Given the description of an element on the screen output the (x, y) to click on. 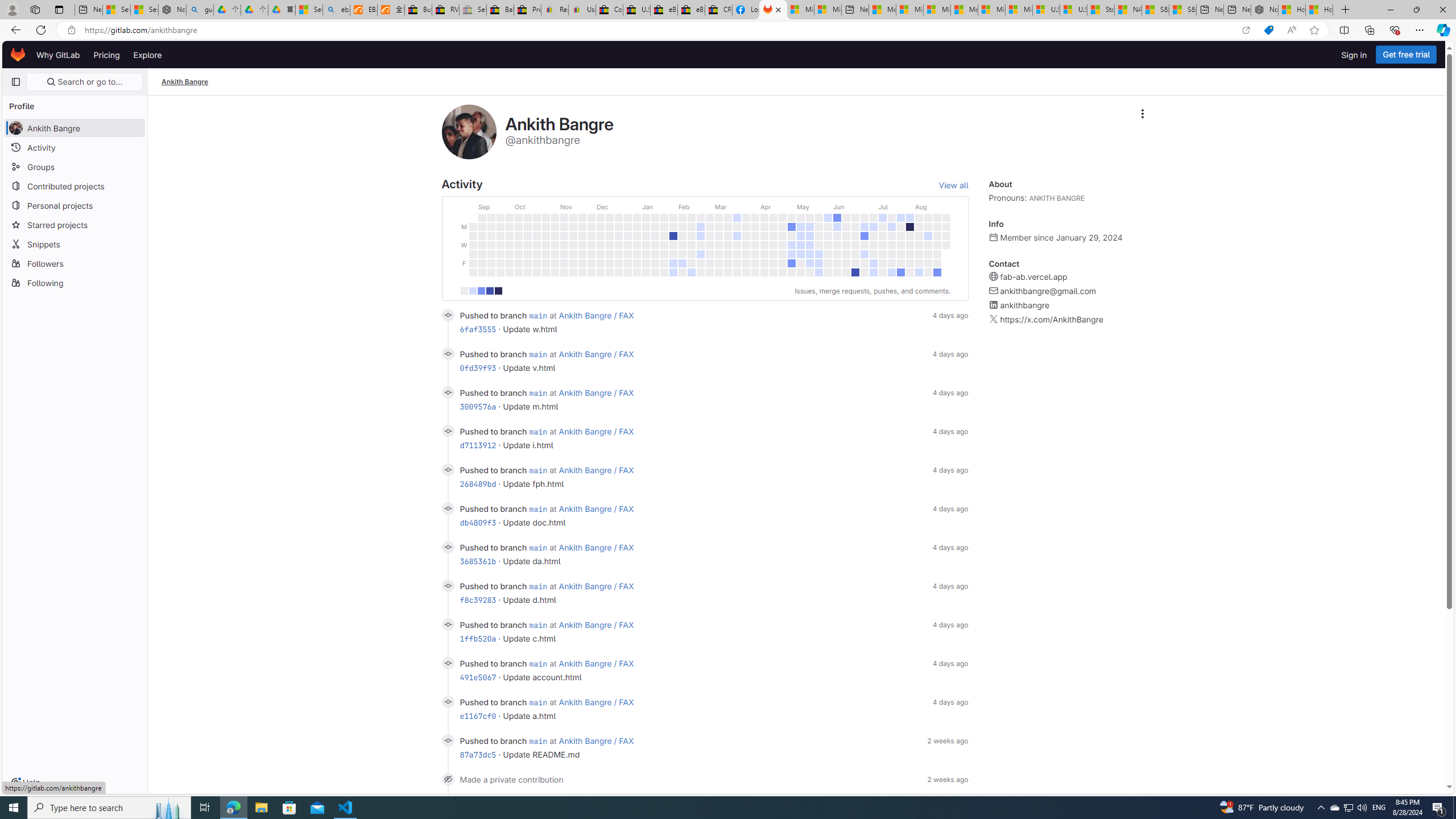
1-9 contributions (472, 290)
Snippets (74, 244)
